Given the description of an element on the screen output the (x, y) to click on. 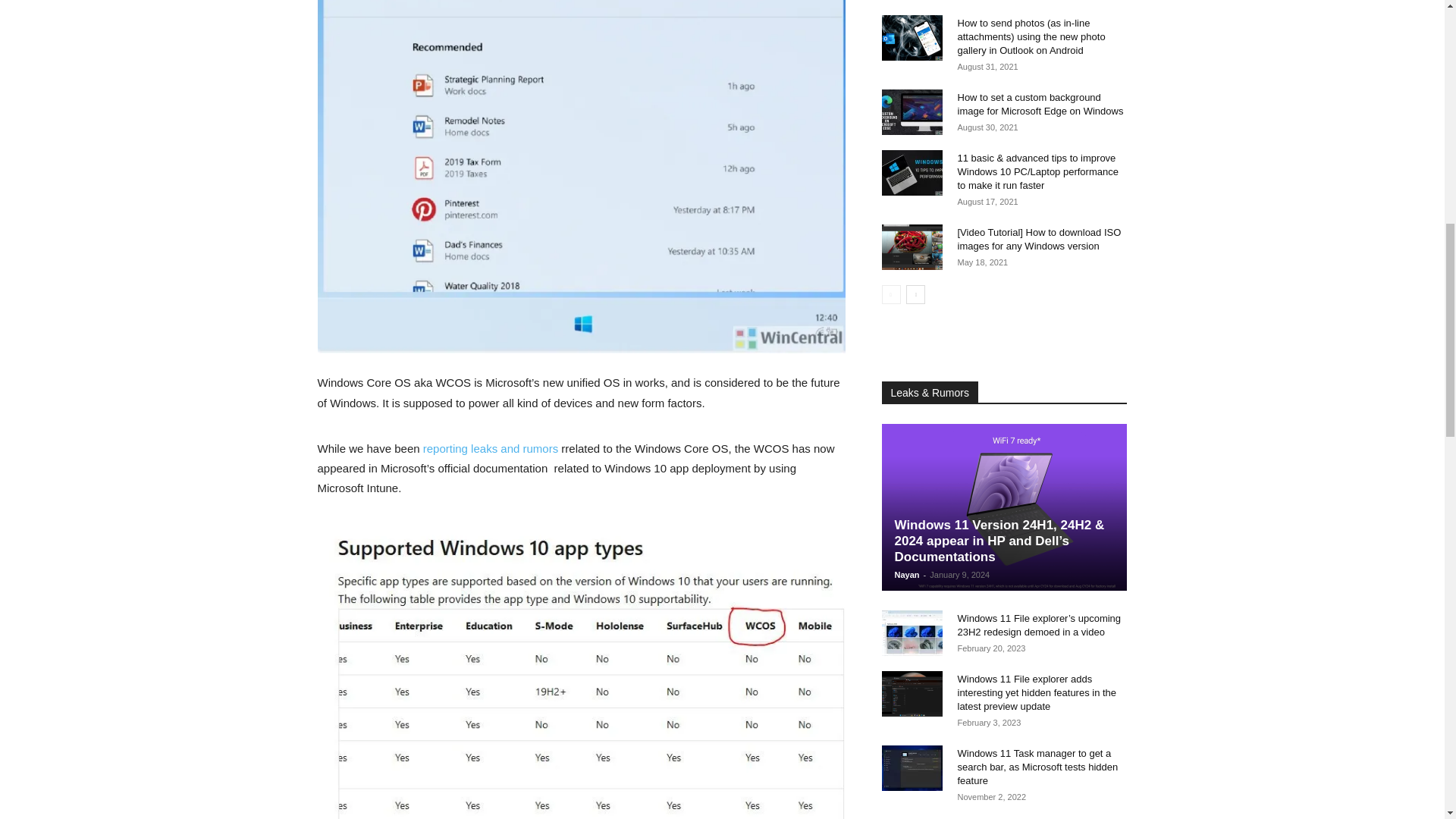
reporting leaks and rumors (490, 448)
